Given the description of an element on the screen output the (x, y) to click on. 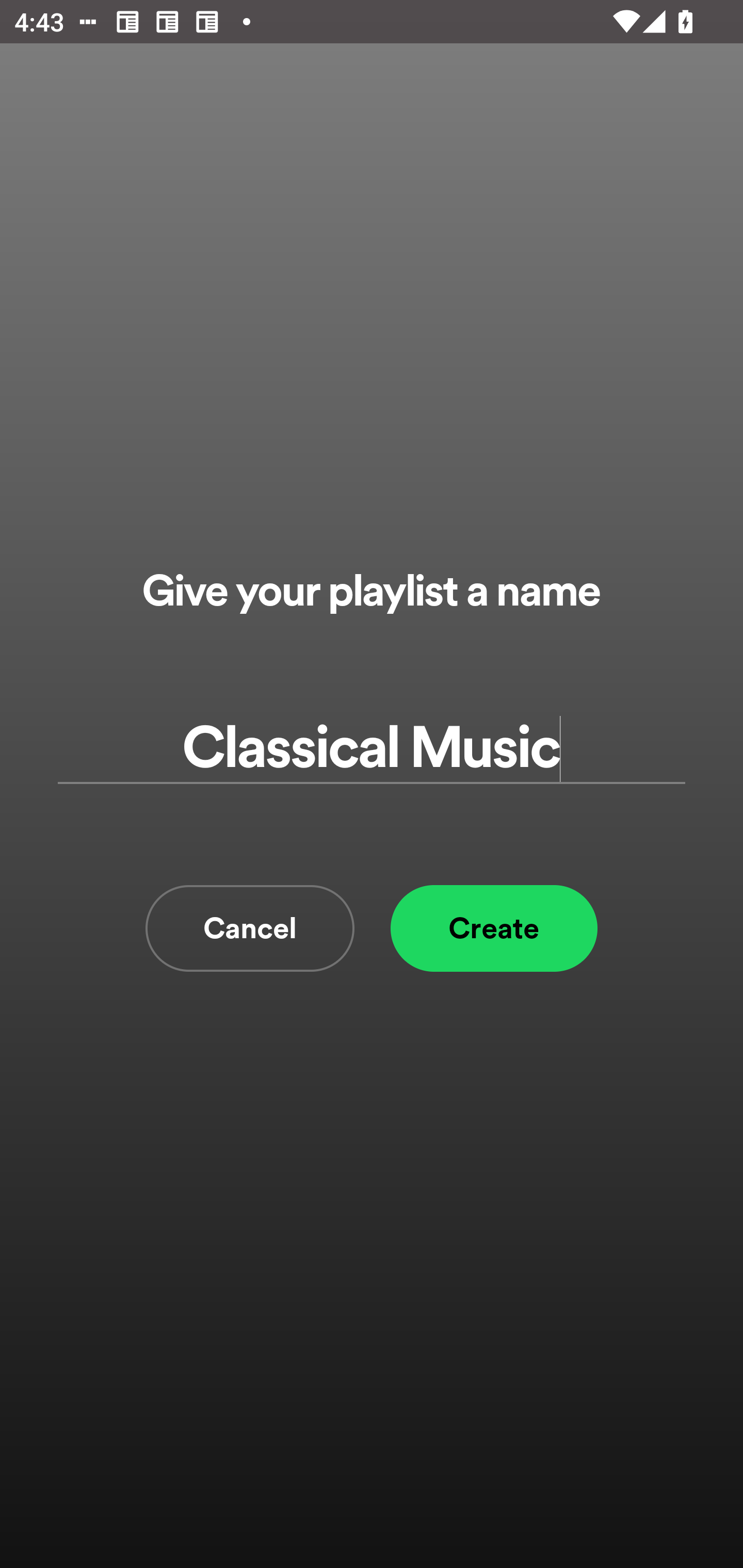
Classical Music Add a playlist name (371, 749)
Cancel (249, 928)
Create (493, 928)
